Given the description of an element on the screen output the (x, y) to click on. 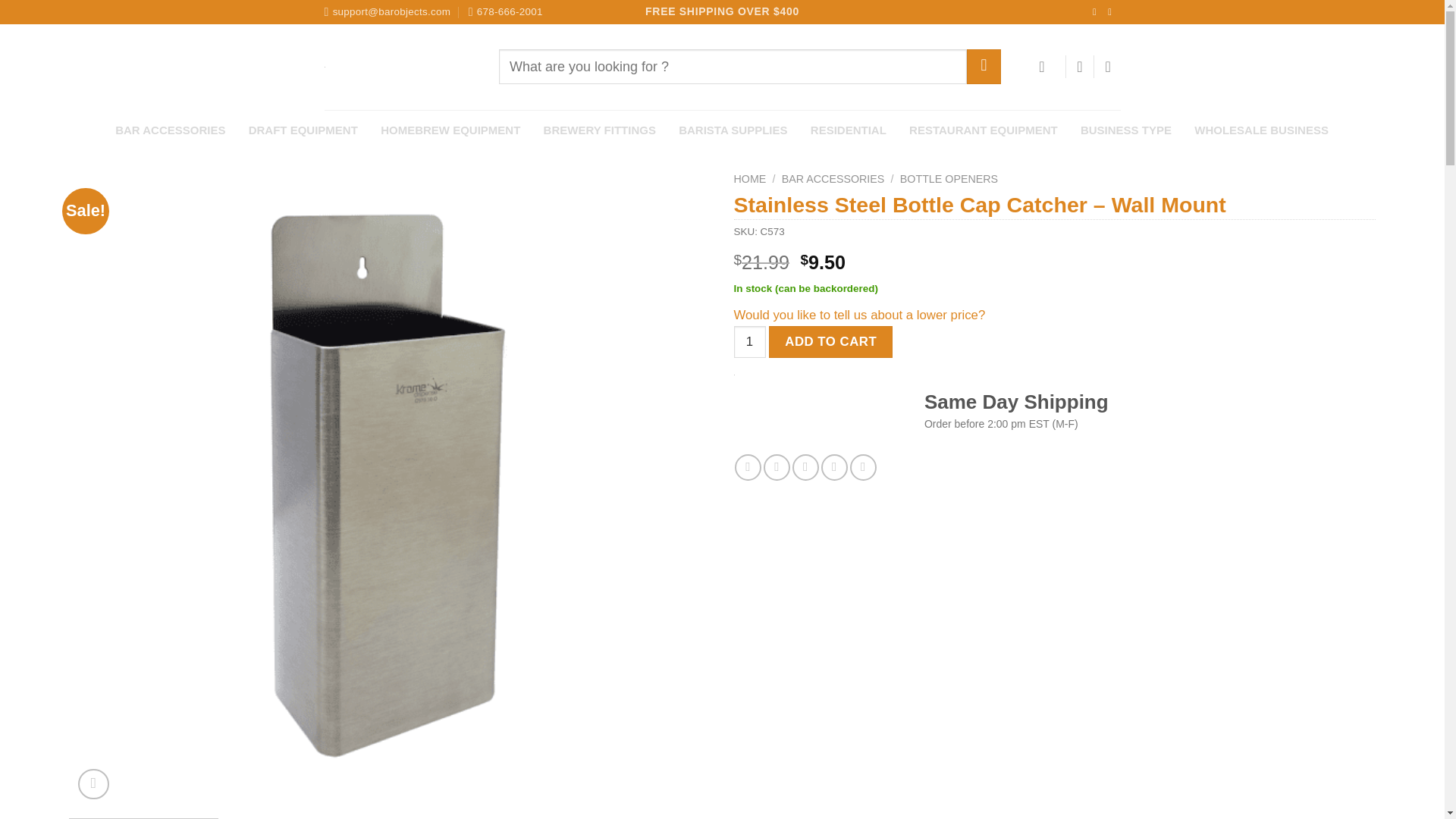
Follow on Instagram (1113, 11)
Search (983, 66)
Follow on Facebook (1097, 11)
Zoom (93, 784)
678-666-2001 (505, 12)
678-666-2001 (505, 12)
1 (749, 341)
